Given the description of an element on the screen output the (x, y) to click on. 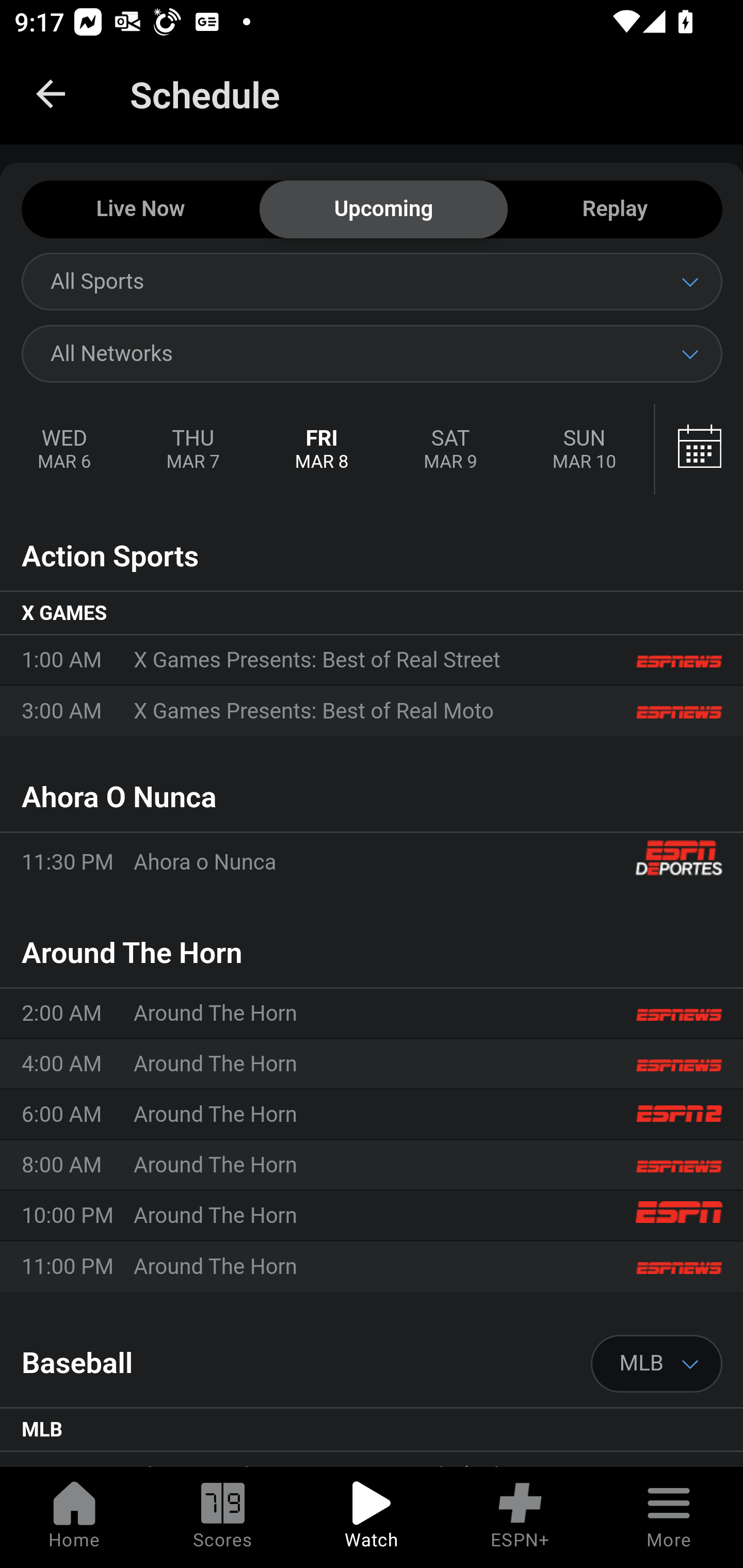
back.button (50, 93)
Live Now (140, 209)
Upcoming (382, 209)
Replay (614, 209)
All Sports (371, 281)
All Networks (371, 353)
Calendar (698, 449)
WED MAR 6 (65, 449)
THU MAR 7 (192, 449)
FRI MAR 8 (321, 449)
SAT MAR 9 (450, 449)
SUN MAR 10 (583, 449)
MLB (657, 1363)
Home (74, 1517)
Scores (222, 1517)
ESPN+ (519, 1517)
More (668, 1517)
